Given the description of an element on the screen output the (x, y) to click on. 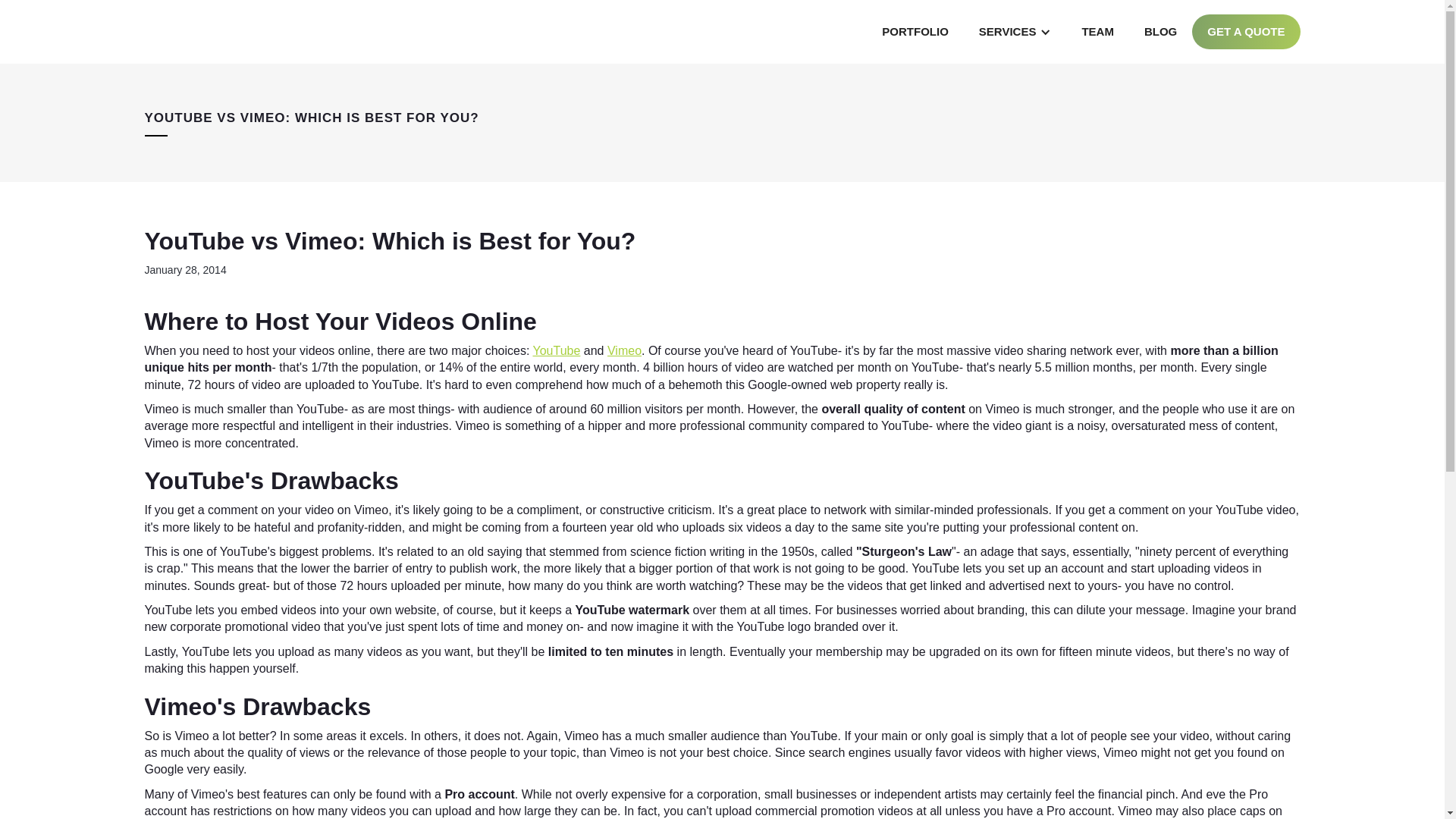
YouTube (555, 350)
Vimeo (624, 350)
GET A QUOTE (1246, 31)
TEAM (1097, 31)
PORTFOLIO (914, 31)
BLOG (1160, 31)
